Given the description of an element on the screen output the (x, y) to click on. 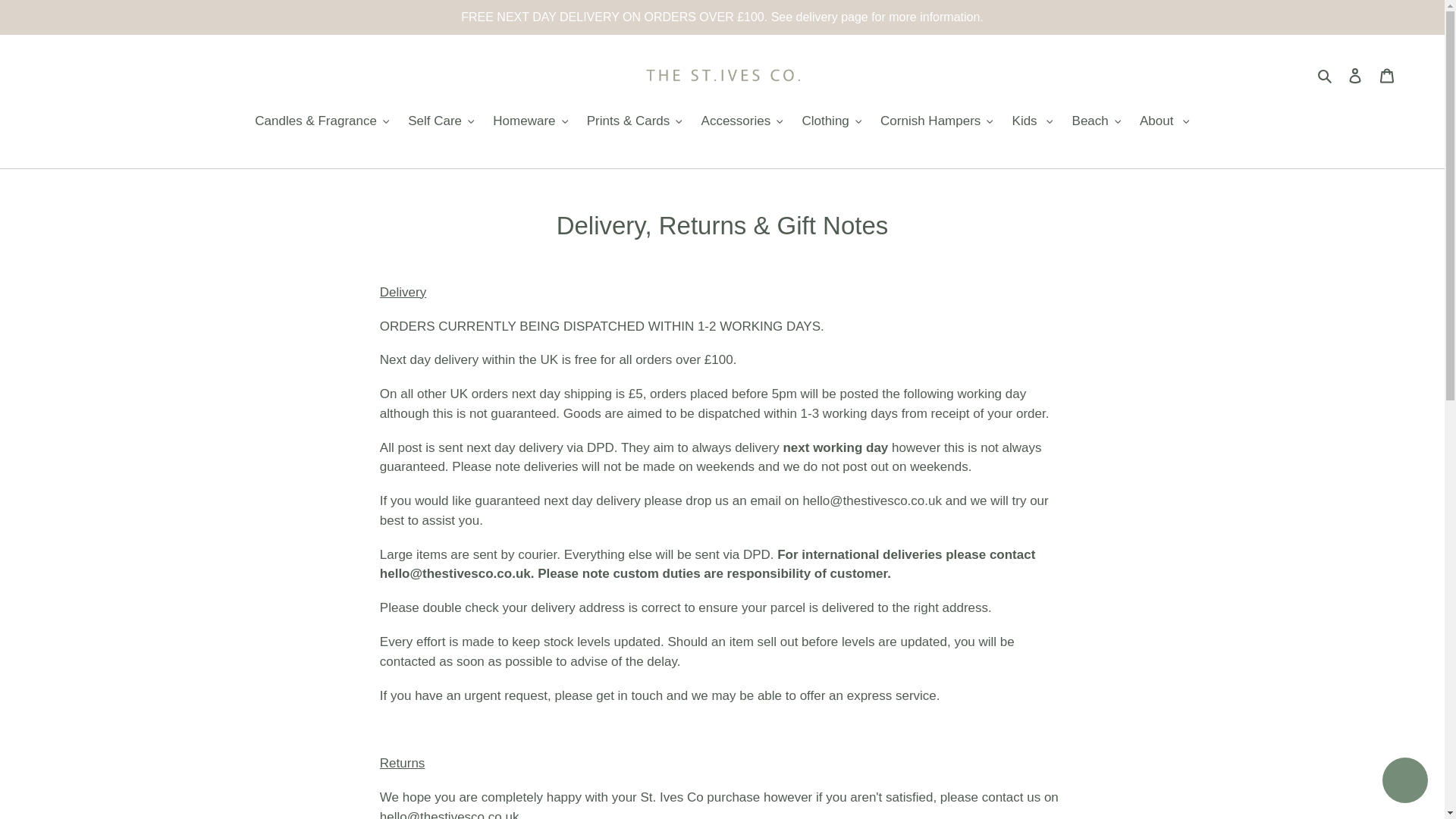
Search (1326, 74)
Cart (1387, 74)
Log in (1355, 74)
Shopify online store chat (1404, 781)
